Given the description of an element on the screen output the (x, y) to click on. 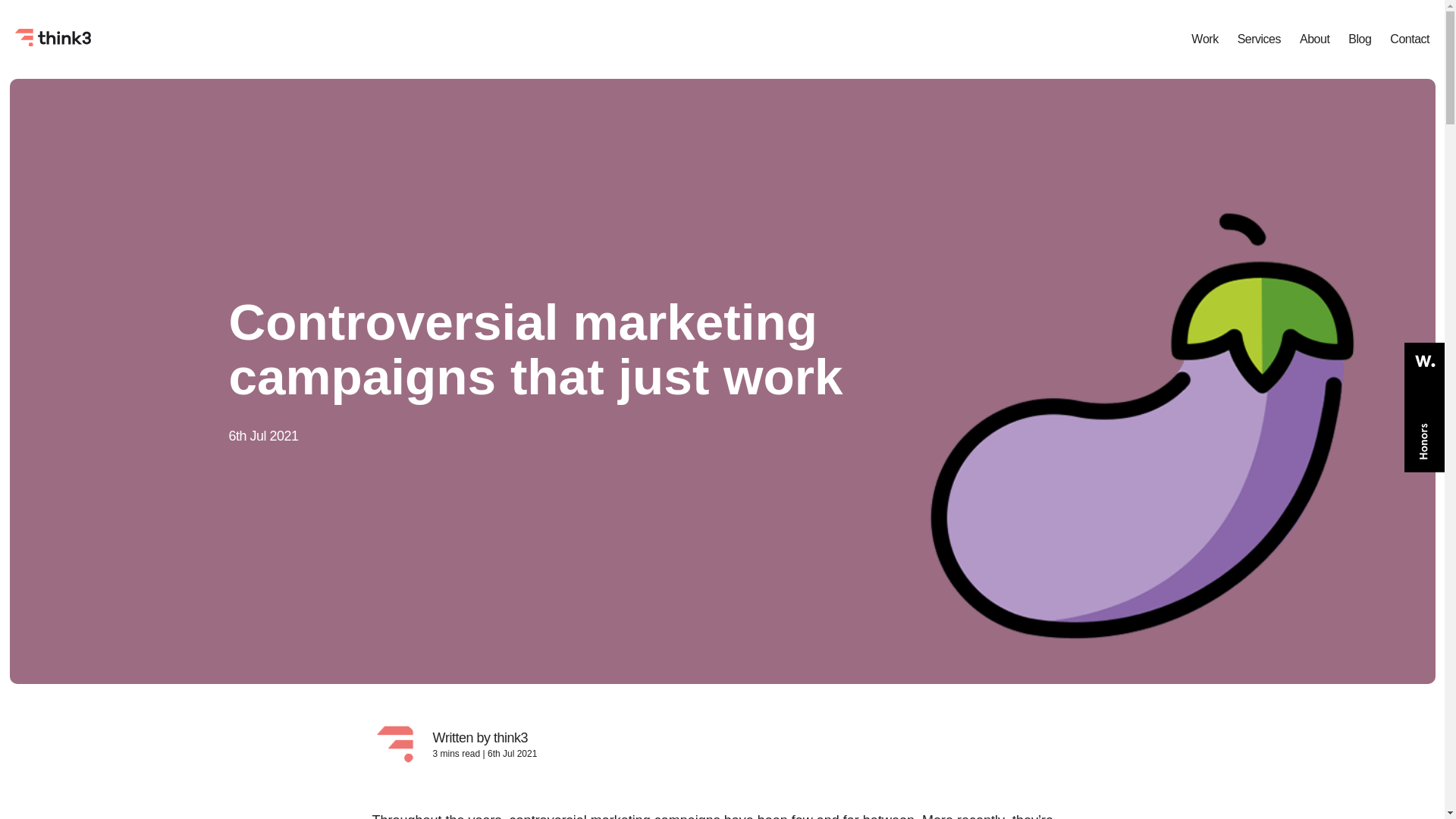
Contact (1409, 38)
Blog (1359, 38)
Work (1204, 38)
About (1314, 38)
Services (1259, 38)
